Given the description of an element on the screen output the (x, y) to click on. 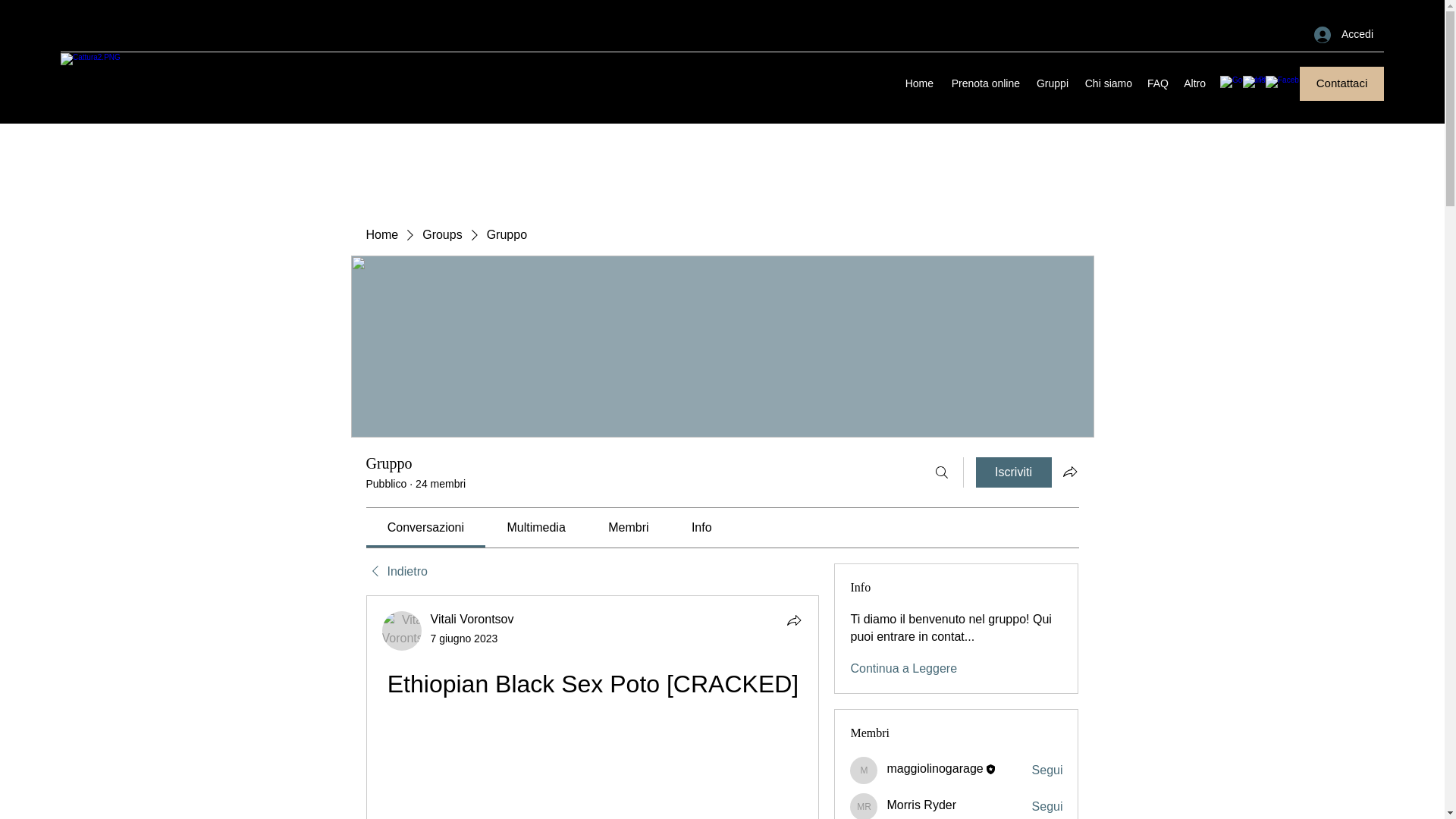
Prenota online (983, 83)
Home (918, 83)
Vitali Vorontsov (471, 618)
maggiolinogarage (934, 768)
Indietro (395, 571)
Contattaci (1342, 83)
Chi siamo (1107, 83)
7 giugno 2023 (463, 638)
maggiolinogarage (863, 769)
Vitali Vorontsov (401, 630)
Gruppi (1051, 83)
FAQ (1157, 83)
Segui (1047, 770)
Continua a Leggere (903, 668)
Groups (441, 234)
